Given the description of an element on the screen output the (x, y) to click on. 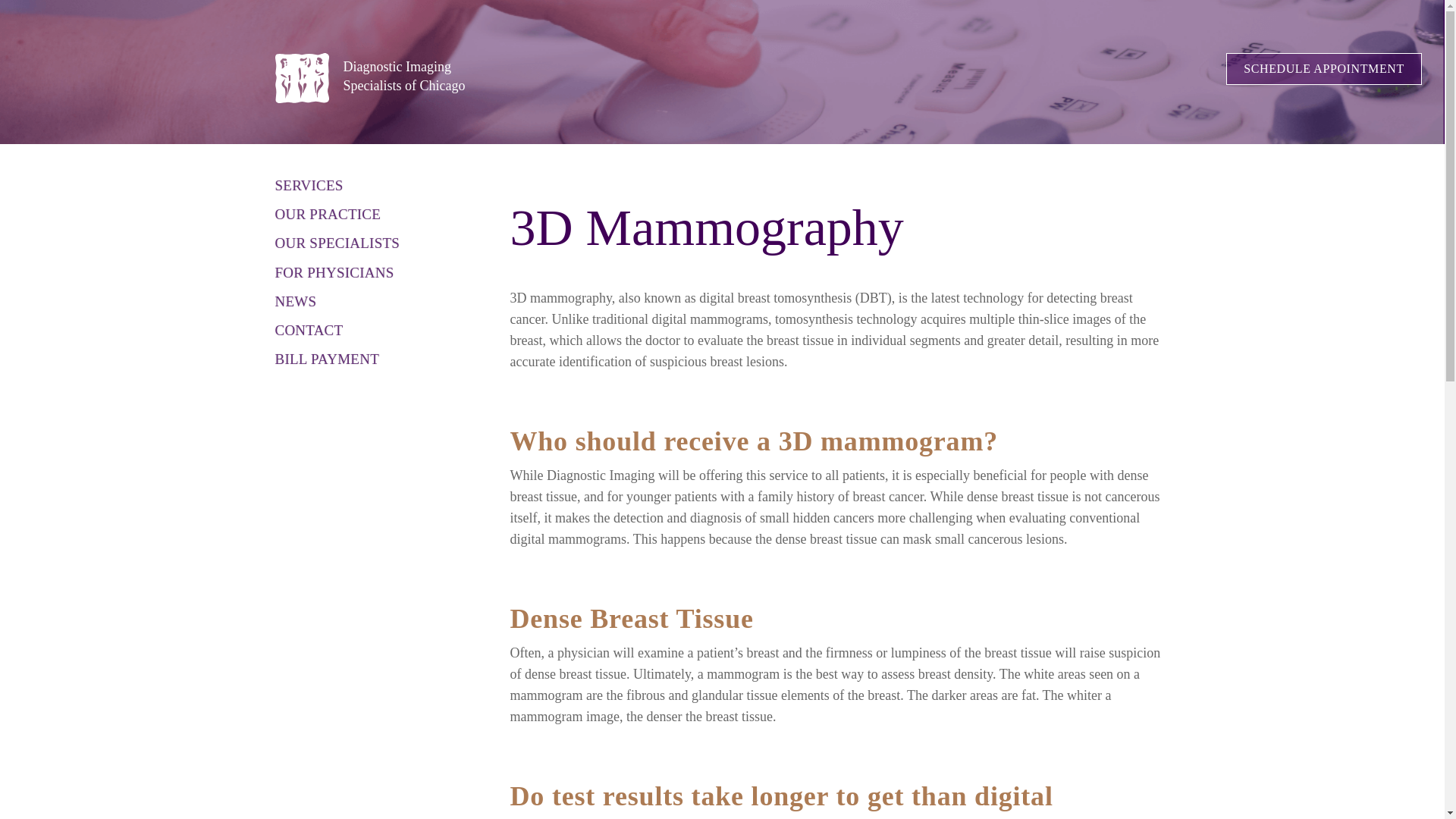
NEWS (295, 301)
CONTACT (308, 330)
BILL PAYMENT (326, 359)
FOR PHYSICIANS (334, 273)
SCHEDULE APPOINTMENT (403, 76)
OUR SPECIALISTS (1323, 69)
OUR PRACTICE (336, 243)
SERVICES (327, 214)
